Given the description of an element on the screen output the (x, y) to click on. 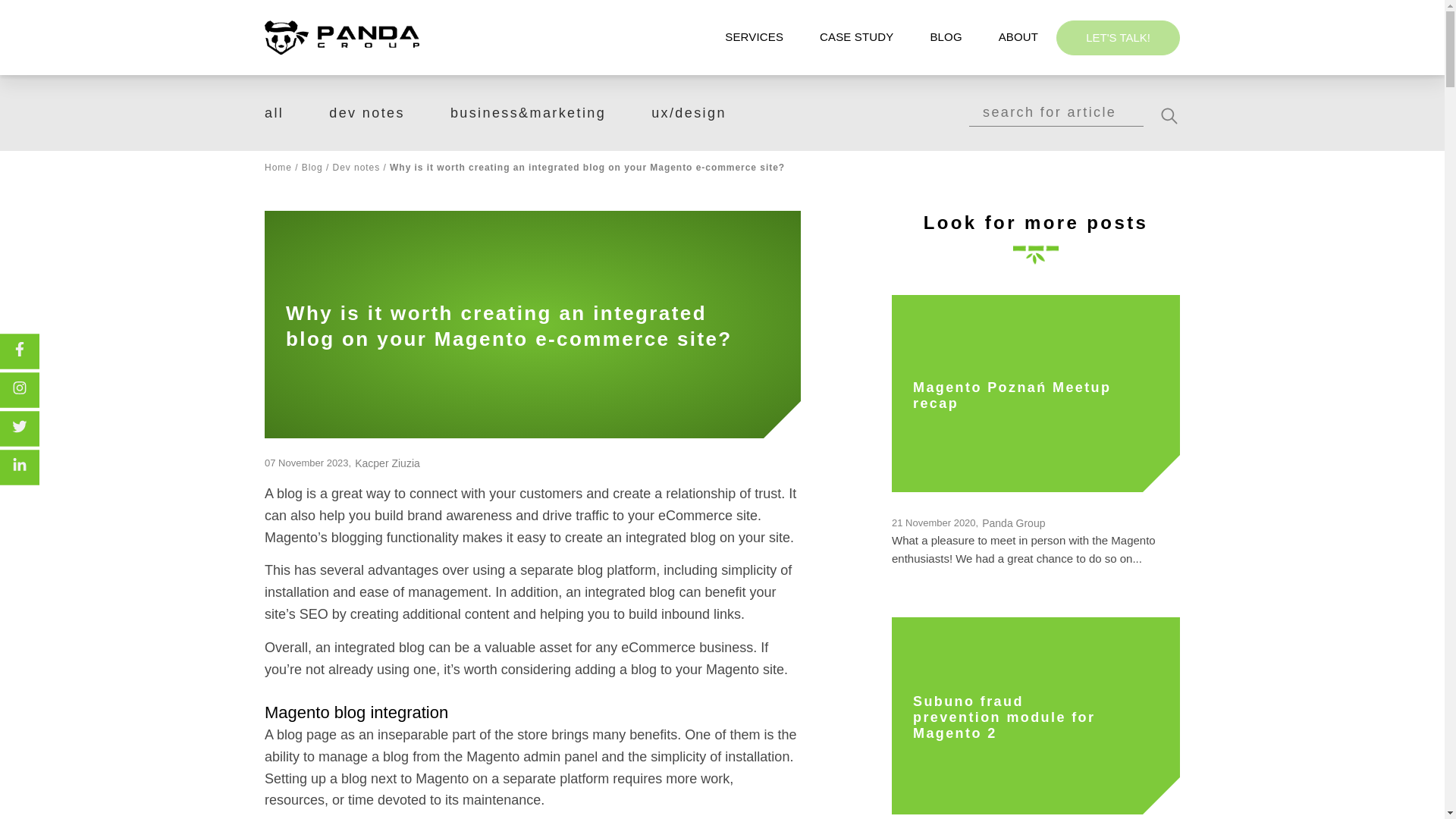
SERVICES (754, 36)
LET'S TALK! (1118, 39)
all (273, 111)
ABOUT (1018, 36)
BLOG (945, 36)
dev notes (366, 111)
LET'S TALK! (1118, 36)
CASE STUDY (856, 36)
